Given the description of an element on the screen output the (x, y) to click on. 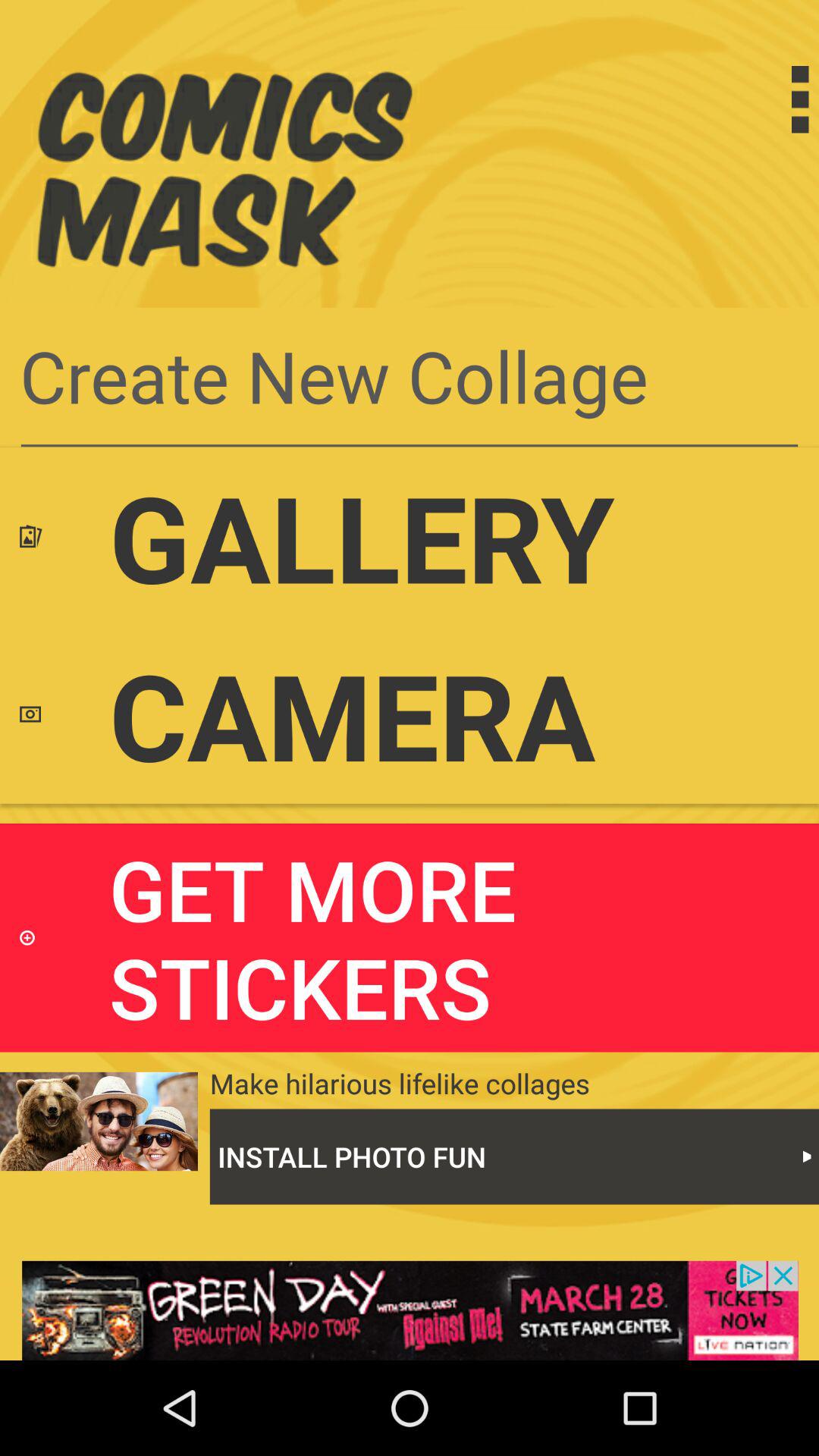
advertisement (409, 1310)
